Given the description of an element on the screen output the (x, y) to click on. 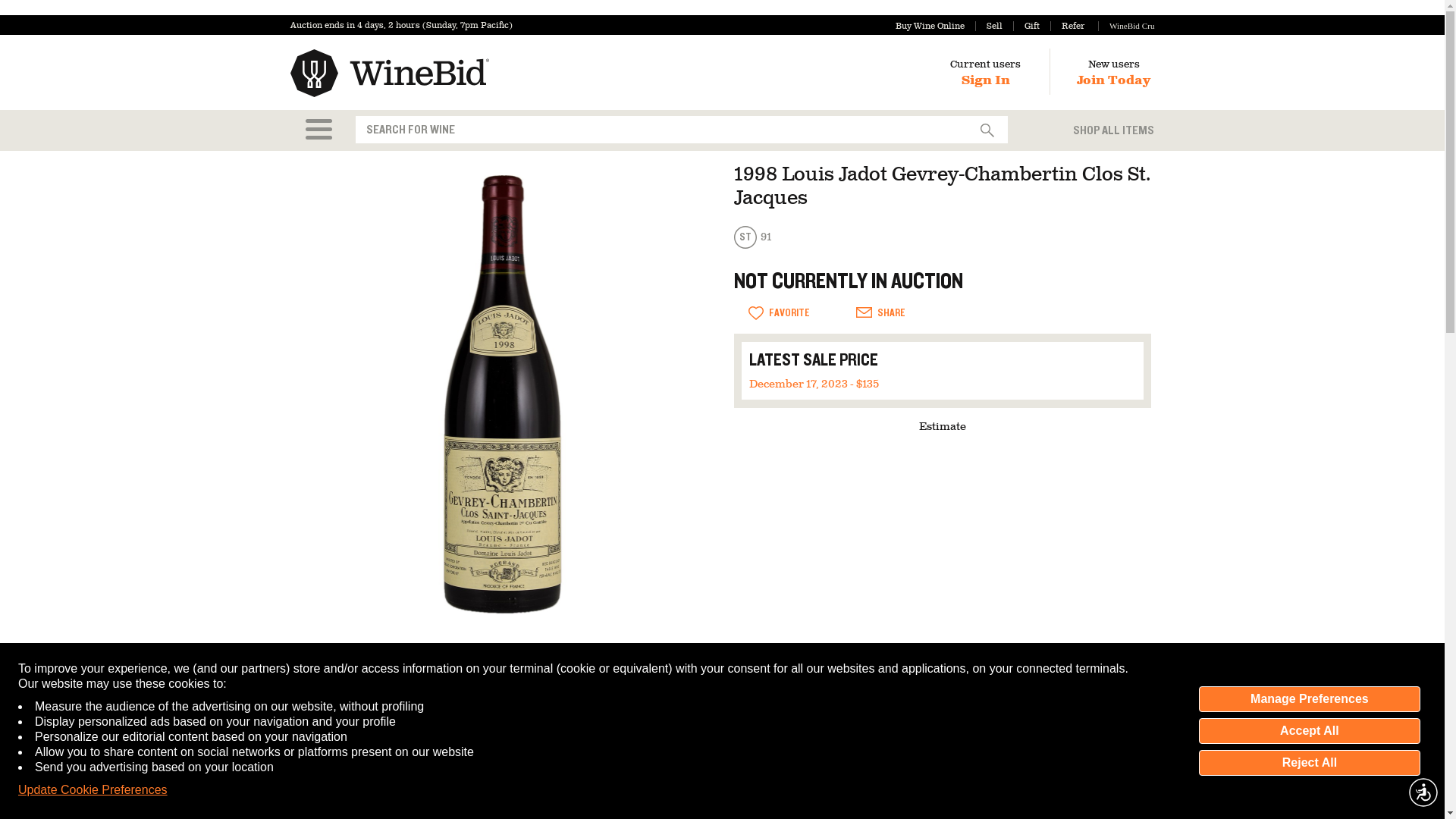
Reject All (1309, 762)
Join Today (1113, 79)
Manage Preferences (1309, 698)
Accessibility Menu (1422, 792)
Refer (1066, 26)
Buy Wine Online (929, 26)
Sell (989, 26)
Update Cookie Preferences (92, 789)
Gift (1026, 26)
WineBid Cru (1125, 26)
Sign In (985, 79)
Accept All (1309, 730)
